Given the description of an element on the screen output the (x, y) to click on. 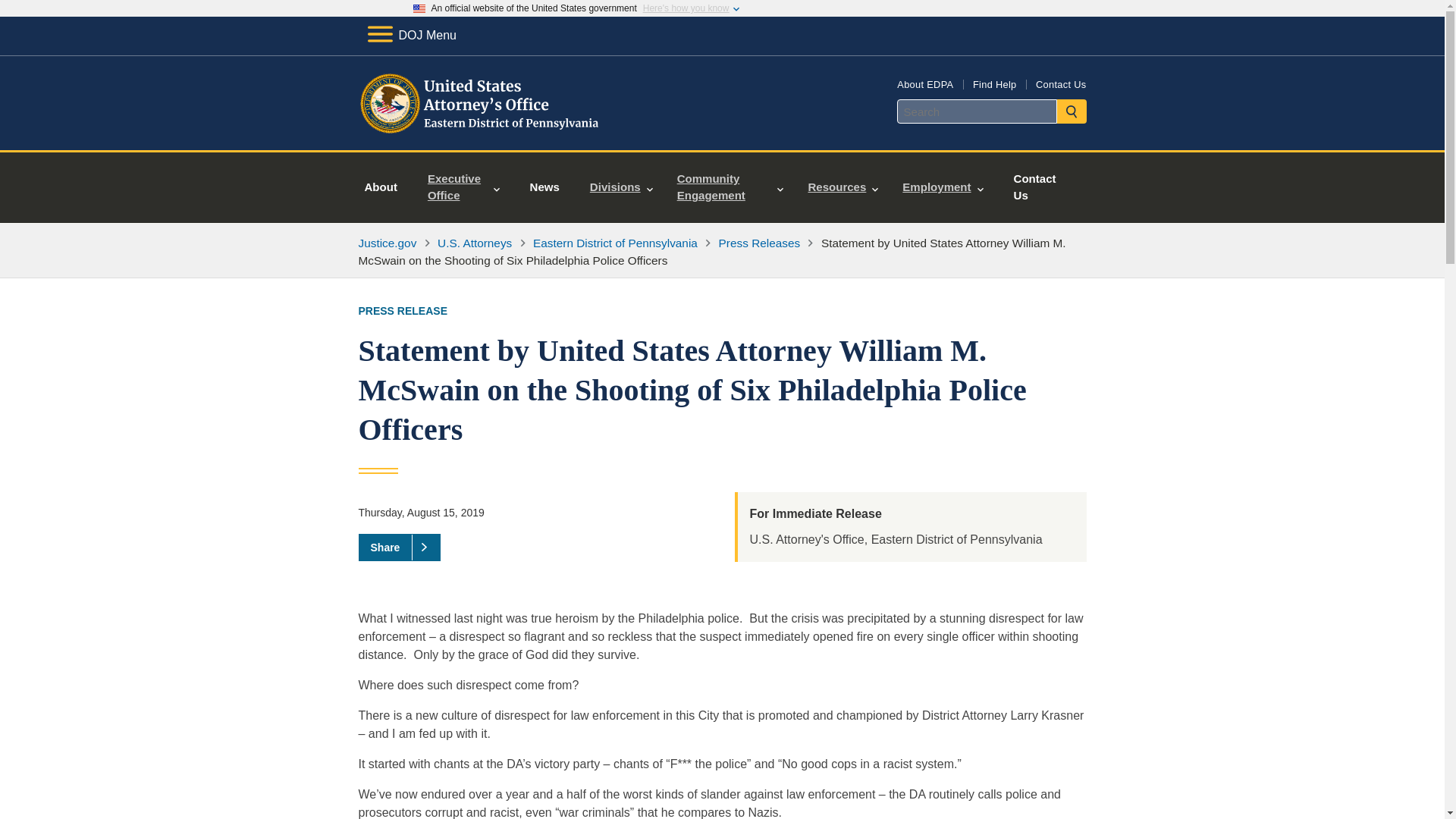
About EDPA (924, 84)
News (545, 187)
Employment (941, 187)
Press Releases (759, 242)
About (380, 187)
DOJ Menu (411, 35)
Share (398, 547)
Resources (841, 187)
Eastern District of Pennsylvania (614, 242)
Divisions (621, 187)
Contact Us (1034, 187)
Executive Office (463, 187)
Justice.gov (387, 242)
Contact Us (1060, 84)
Home (481, 132)
